Given the description of an element on the screen output the (x, y) to click on. 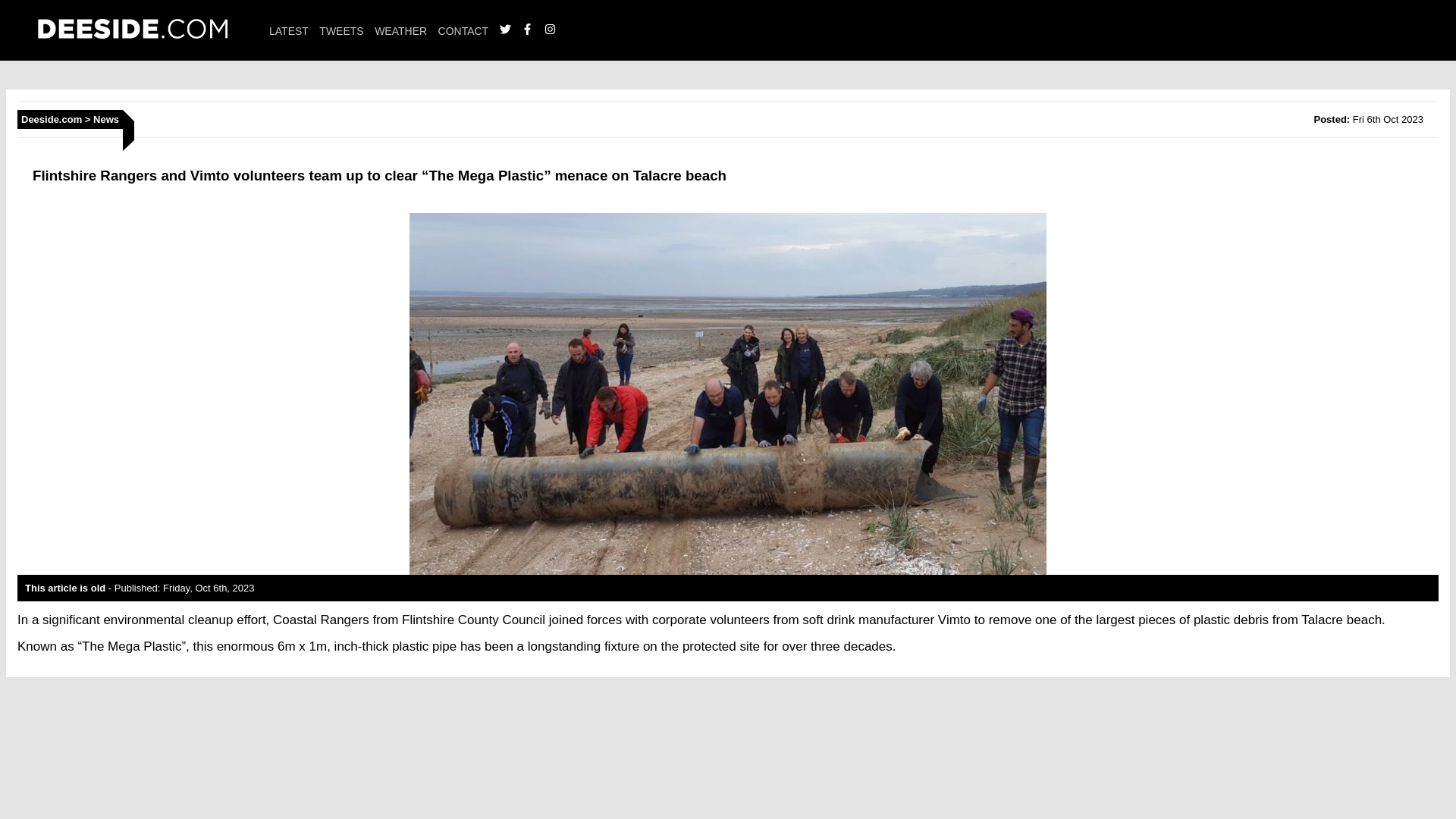
LATEST (288, 30)
TWEETS (340, 30)
CONTACT (463, 30)
WEATHER (400, 30)
